Given the description of an element on the screen output the (x, y) to click on. 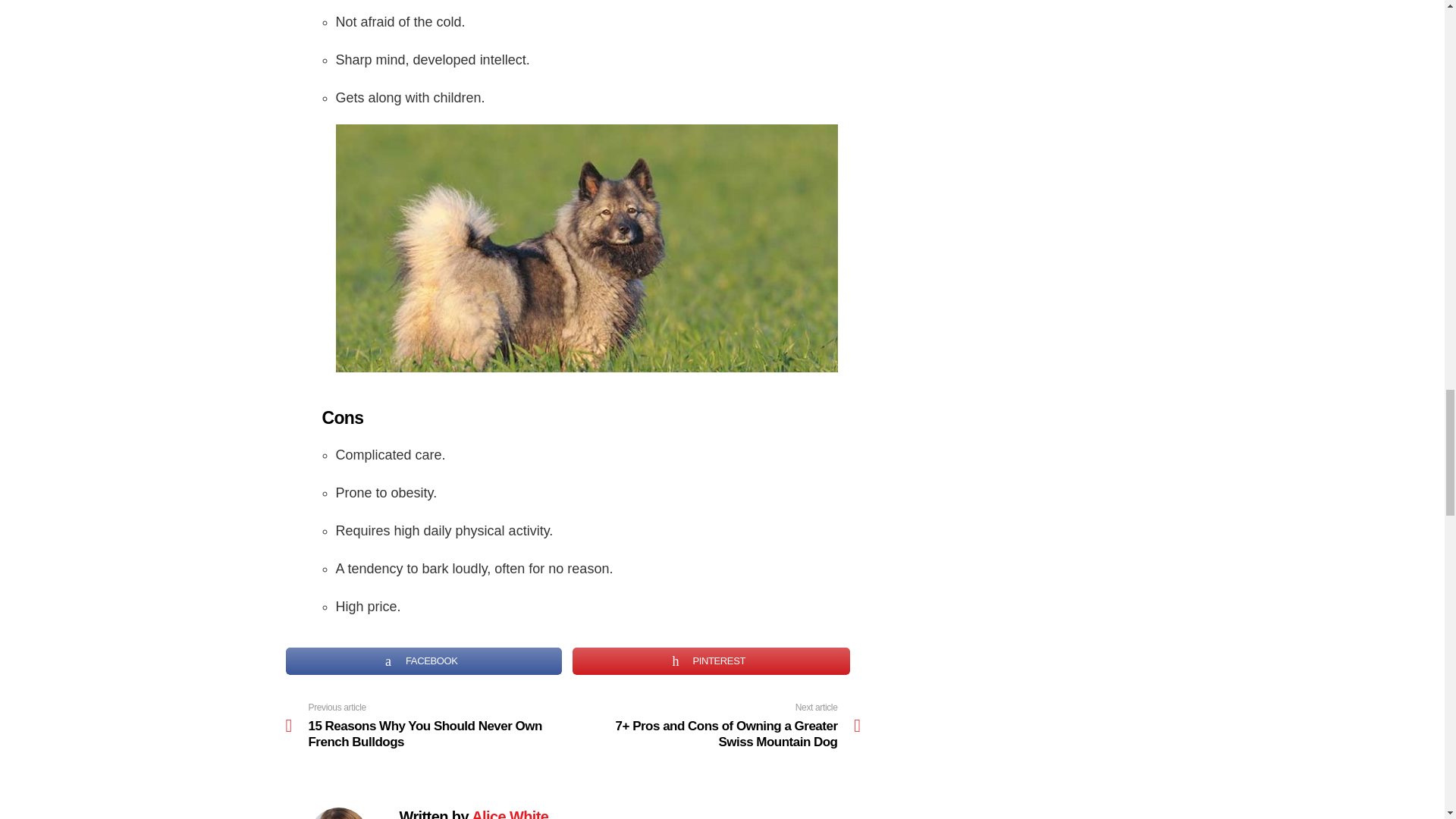
PINTEREST (711, 660)
Share on Facebook (422, 660)
Share on Pinterest (711, 660)
FACEBOOK (422, 660)
Alice White (509, 813)
